Given the description of an element on the screen output the (x, y) to click on. 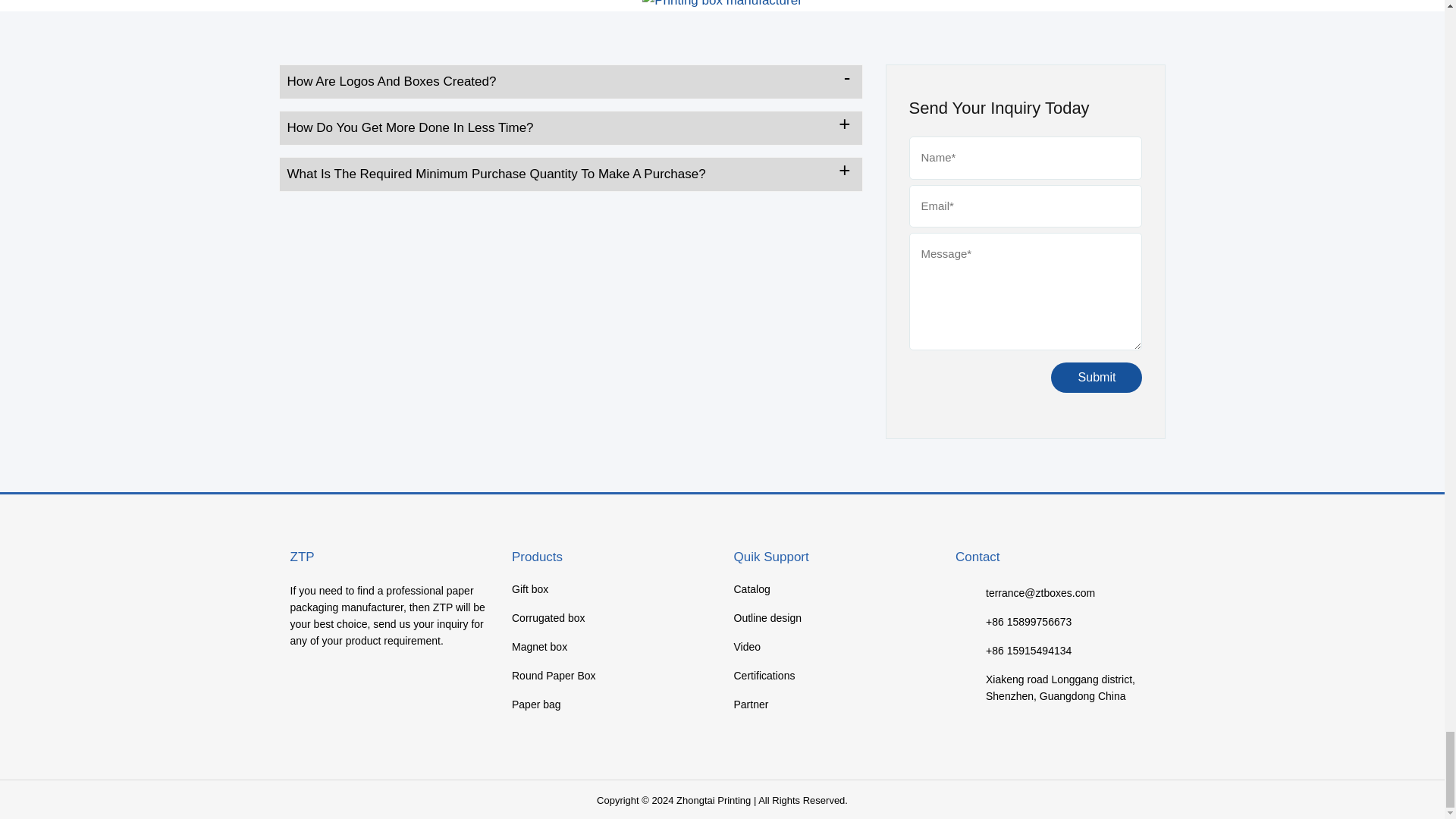
Submit (1096, 377)
